Given the description of an element on the screen output the (x, y) to click on. 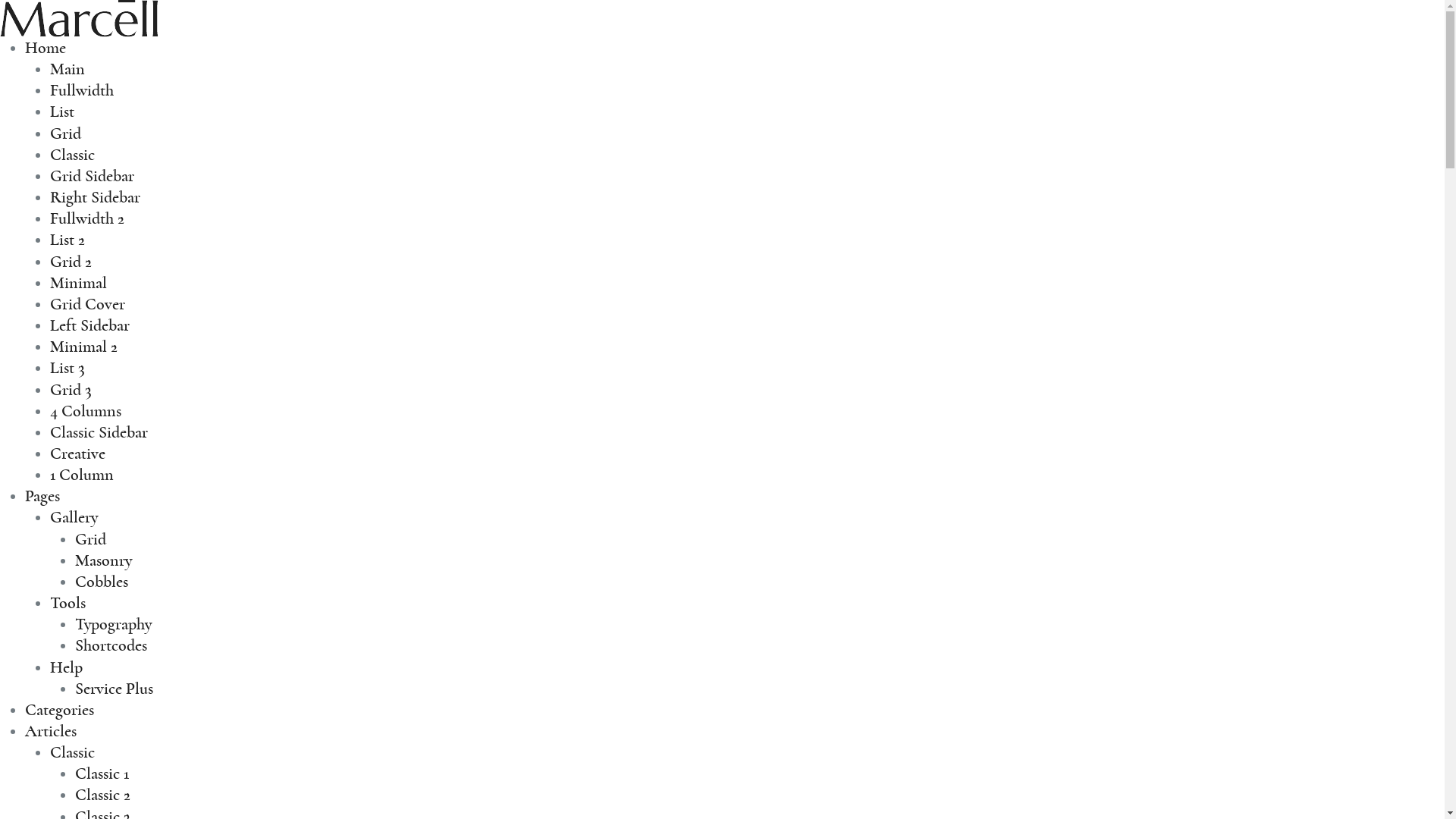
Classic 2 Element type: text (102, 794)
Tools Element type: text (67, 602)
Shortcodes Element type: text (111, 645)
Main Element type: text (67, 68)
Masonry Element type: text (103, 560)
Classic 1 Element type: text (101, 773)
List 3 Element type: text (67, 367)
Grid Sidebar Element type: text (92, 175)
Fullwidth 2 Element type: text (87, 218)
Service Plus Element type: text (114, 688)
Pages Element type: text (42, 495)
Left Sidebar Element type: text (89, 324)
Creative Element type: text (77, 453)
List Element type: text (62, 111)
Gallery Element type: text (73, 516)
List 2 Element type: text (67, 239)
Grid 2 Element type: text (70, 261)
Grid 3 Element type: text (70, 388)
Articles Element type: text (50, 730)
Grid Cover Element type: text (87, 303)
Help Element type: text (66, 666)
1 Column Element type: text (81, 474)
Classic Sidebar Element type: text (98, 431)
Typography Element type: text (113, 623)
Minimal Element type: text (78, 282)
Right Sidebar Element type: text (95, 196)
Cobbles Element type: text (101, 581)
Minimal 2 Element type: text (83, 346)
Classic Element type: text (72, 751)
Categories Element type: text (59, 709)
Fullwidth Element type: text (81, 89)
4 Columns Element type: text (85, 410)
Grid Element type: text (65, 133)
Grid Element type: text (90, 538)
Classic Element type: text (72, 154)
Home Element type: text (45, 47)
